Given the description of an element on the screen output the (x, y) to click on. 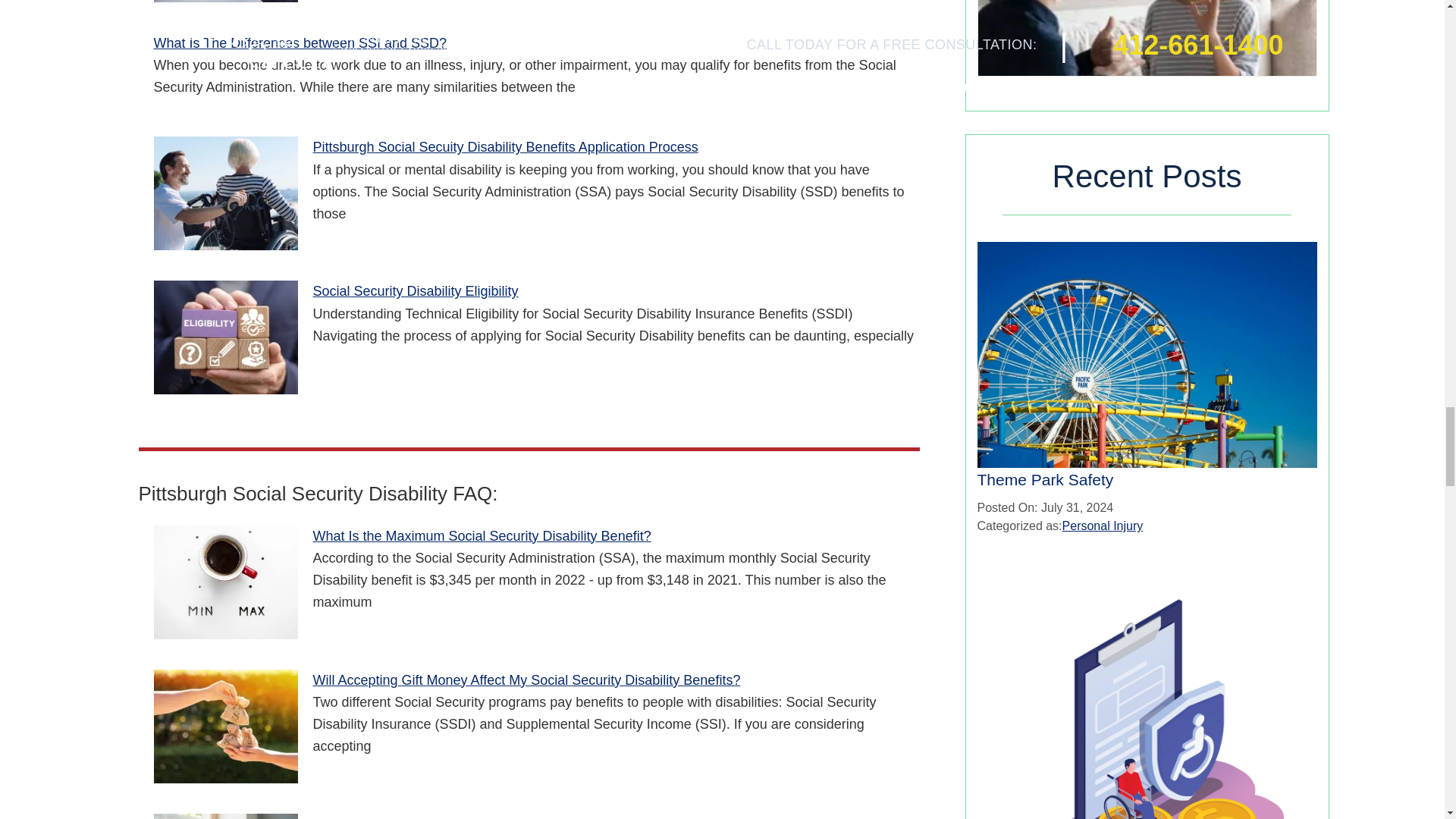
What Is the Maximum Social Security Disability Benefit? (224, 582)
Pittsburgh OHO: What You Need to Know (224, 1)
Social Security Disability Eligibility (224, 336)
What Are the 3 Most Common Physical Disabilities? (224, 816)
